Given the description of an element on the screen output the (x, y) to click on. 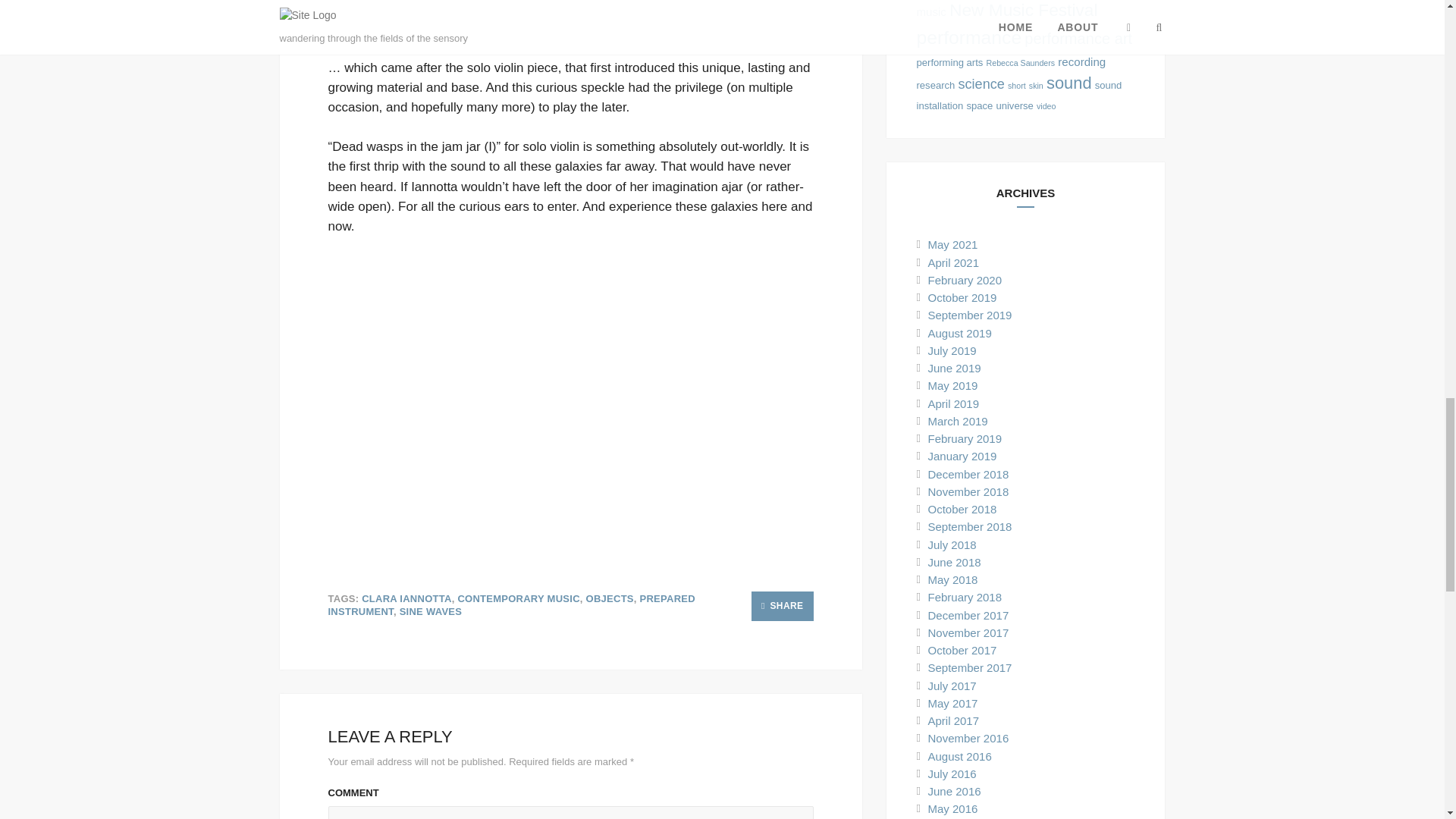
CLARA IANNOTTA (406, 598)
SINE WAVES (430, 611)
CONTEMPORARY MUSIC (518, 598)
PREPARED INSTRUMENT (510, 604)
OBJECTS (609, 598)
SHARE (782, 605)
